Given the description of an element on the screen output the (x, y) to click on. 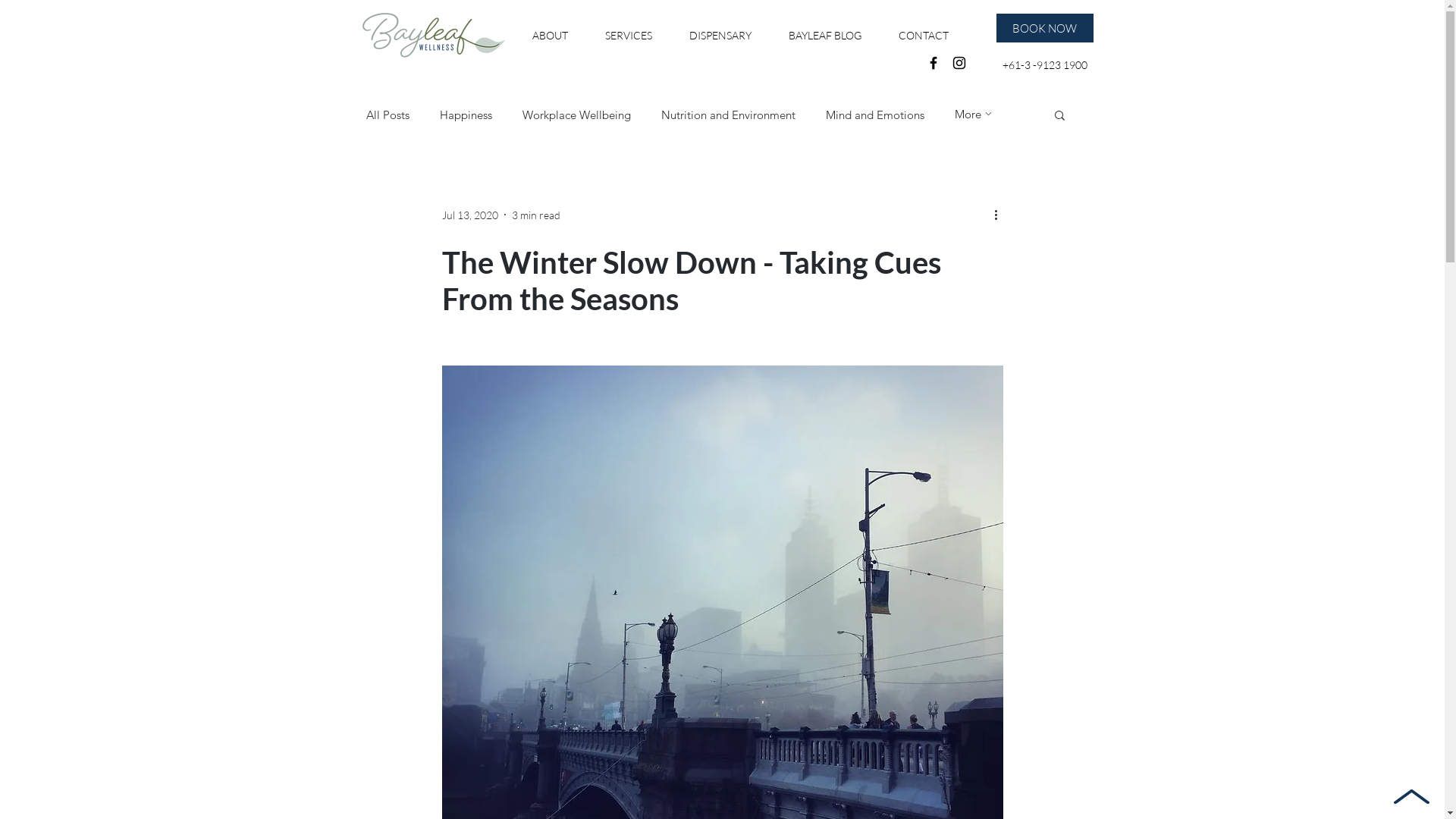
Mind and Emotions Element type: text (874, 114)
BOOK NOW Element type: text (1044, 27)
All Posts Element type: text (386, 114)
DISPENSARY Element type: text (719, 35)
Workplace Wellbeing Element type: text (575, 114)
CONTACT Element type: text (922, 35)
BAYLEAF BLOG Element type: text (825, 35)
Nutrition and Environment Element type: text (728, 114)
SERVICES Element type: text (628, 35)
Happiness Element type: text (465, 114)
ABOUT Element type: text (550, 35)
